Given the description of an element on the screen output the (x, y) to click on. 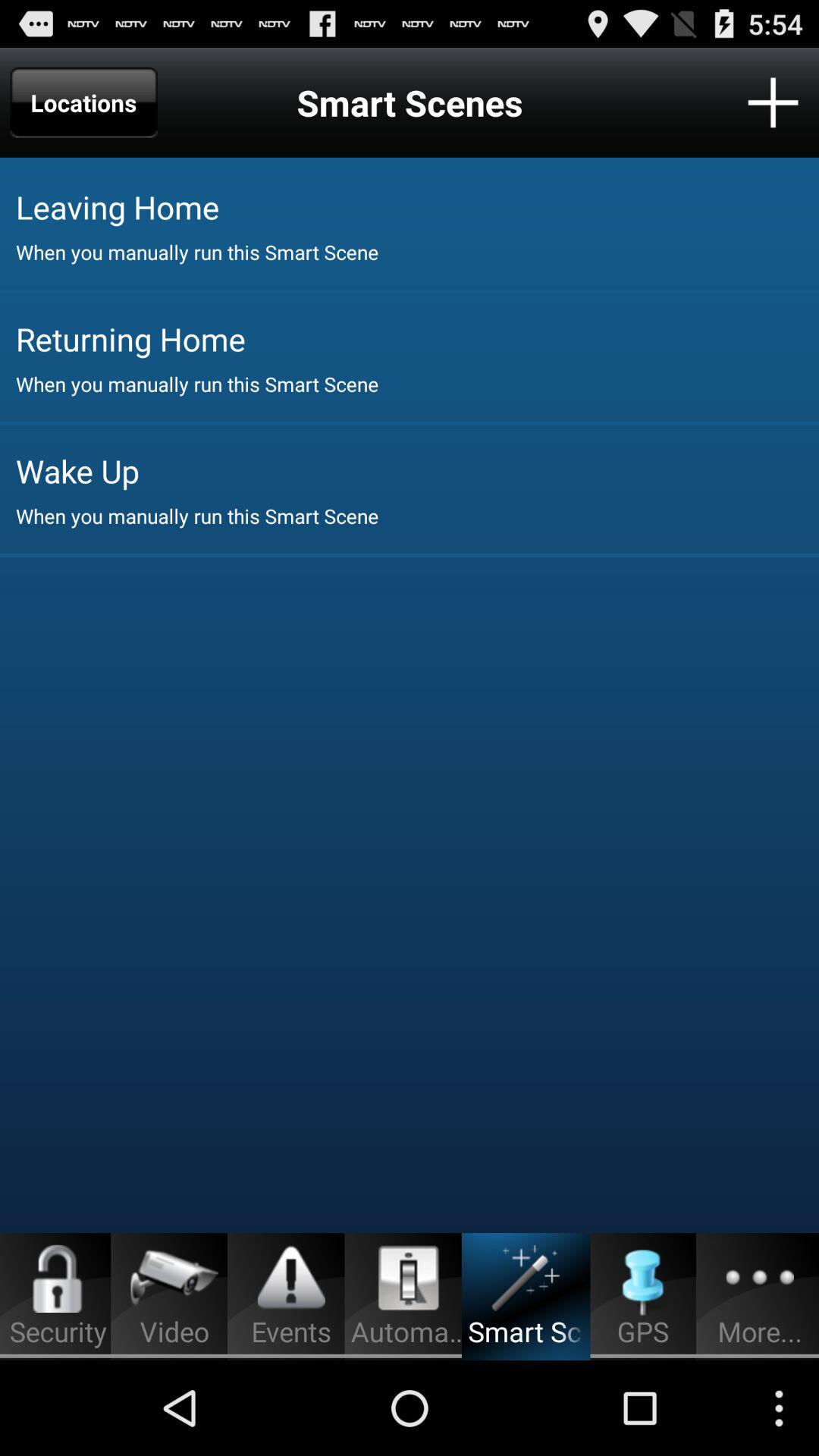
jump until wake up icon (417, 470)
